Given the description of an element on the screen output the (x, y) to click on. 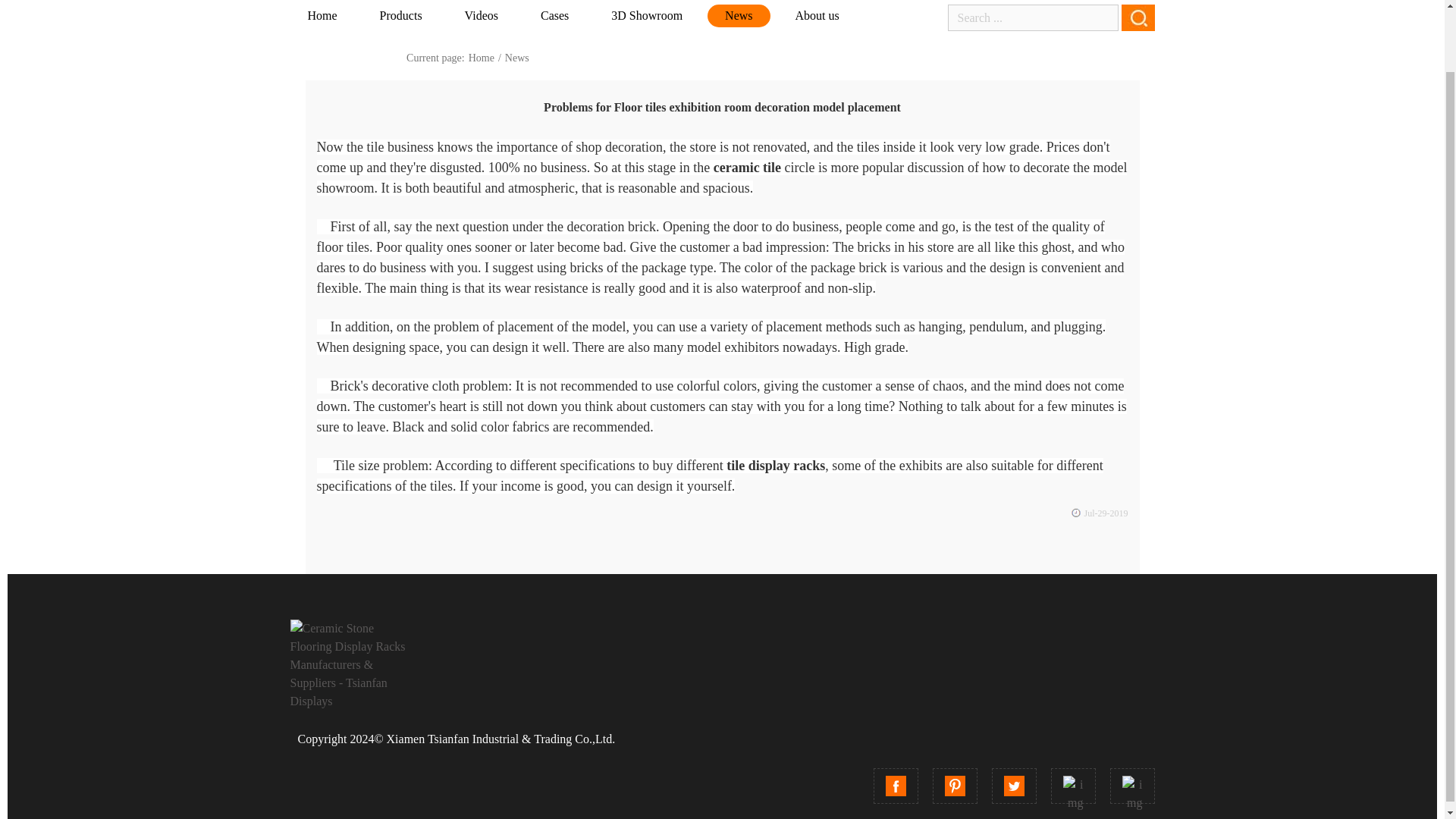
Home (321, 15)
Products (400, 15)
